Given the description of an element on the screen output the (x, y) to click on. 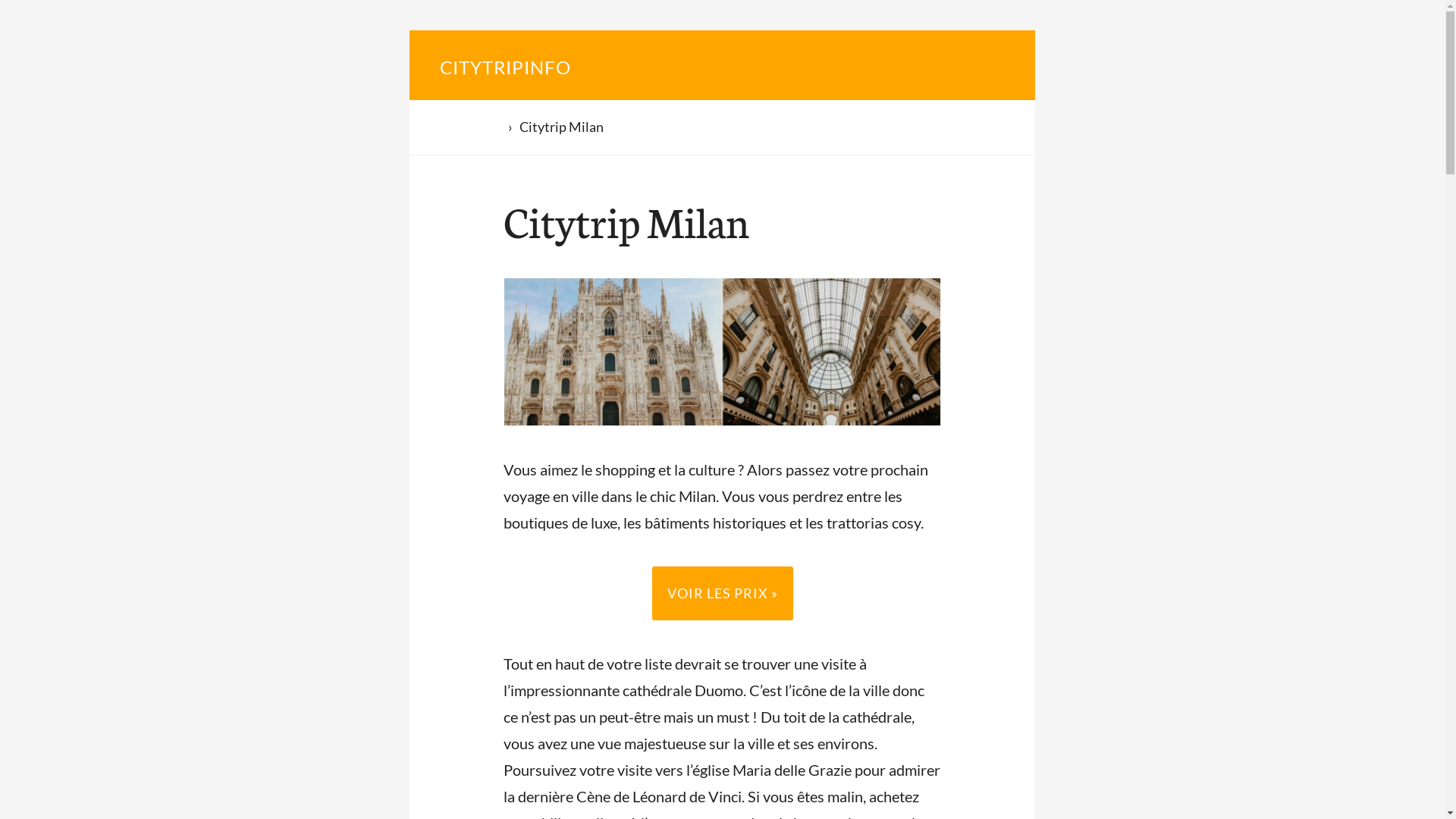
CITYTRIPINFO Element type: text (505, 67)
